Given the description of an element on the screen output the (x, y) to click on. 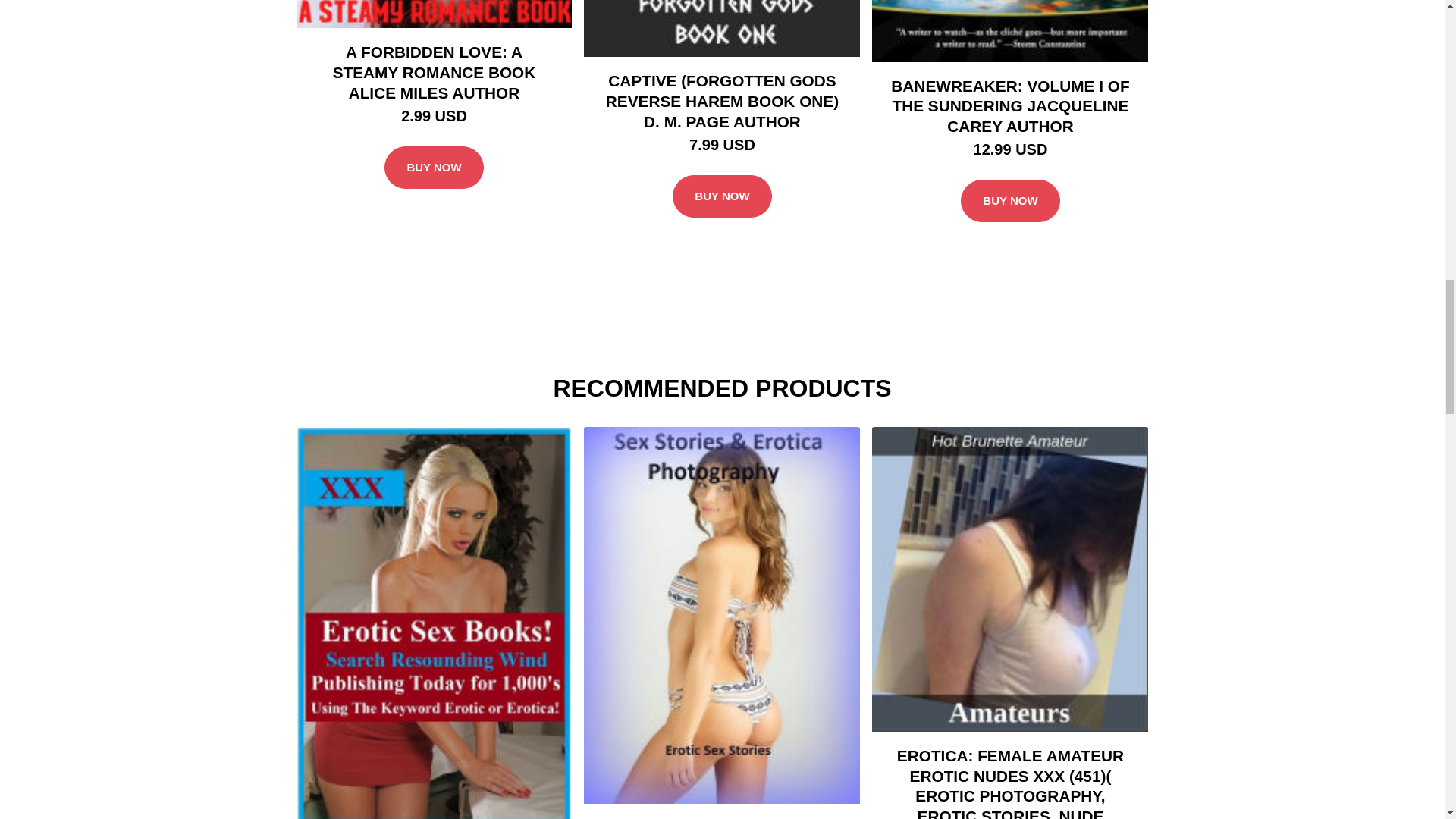
BUY NOW (1009, 200)
BUY NOW (433, 167)
A FORBIDDEN LOVE: A STEAMY ROMANCE BOOK ALICE MILES AUTHOR (434, 71)
BUY NOW (721, 196)
